Given the description of an element on the screen output the (x, y) to click on. 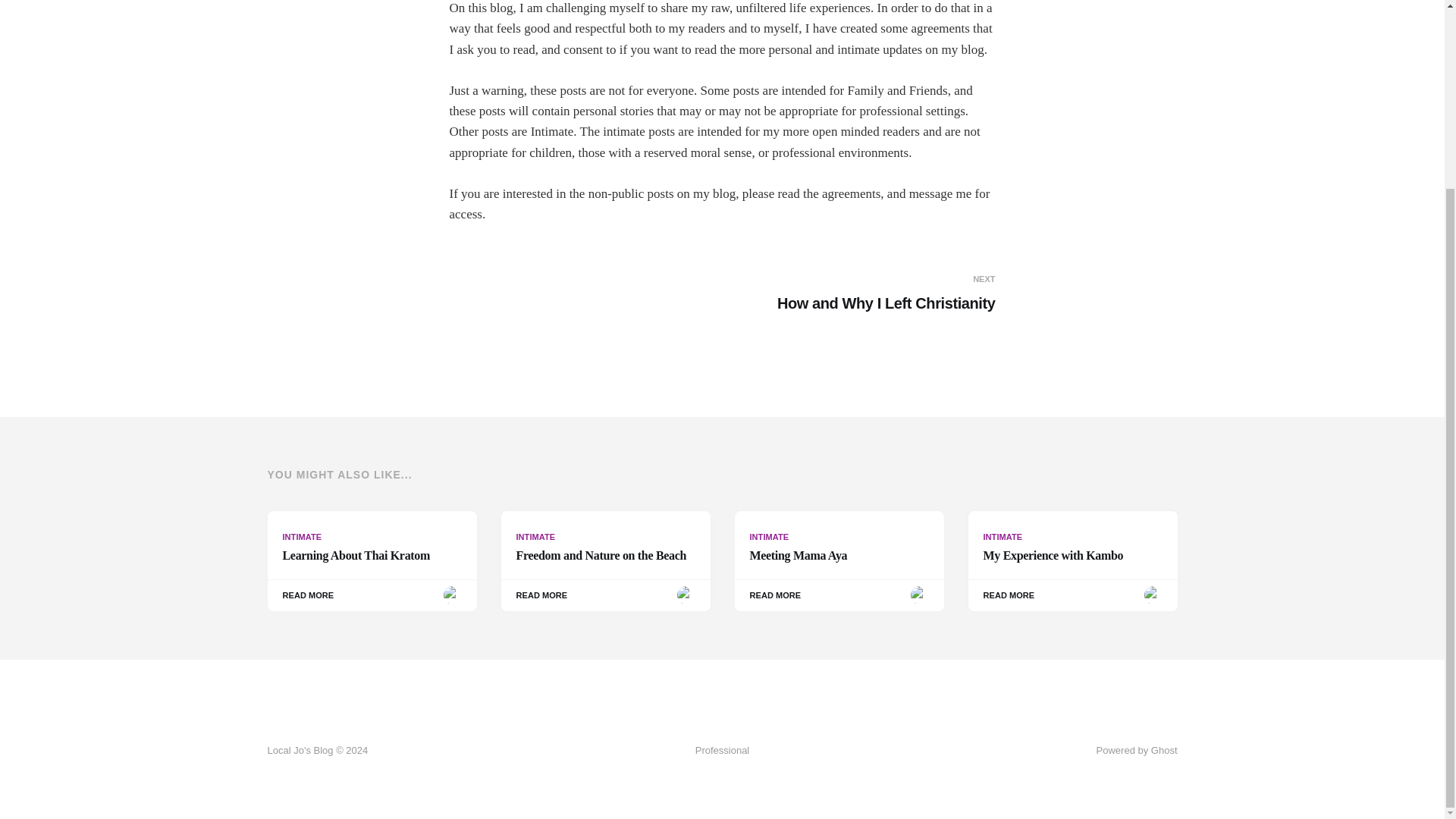
Powered by Ghost (605, 560)
Professional (1136, 749)
